Given the description of an element on the screen output the (x, y) to click on. 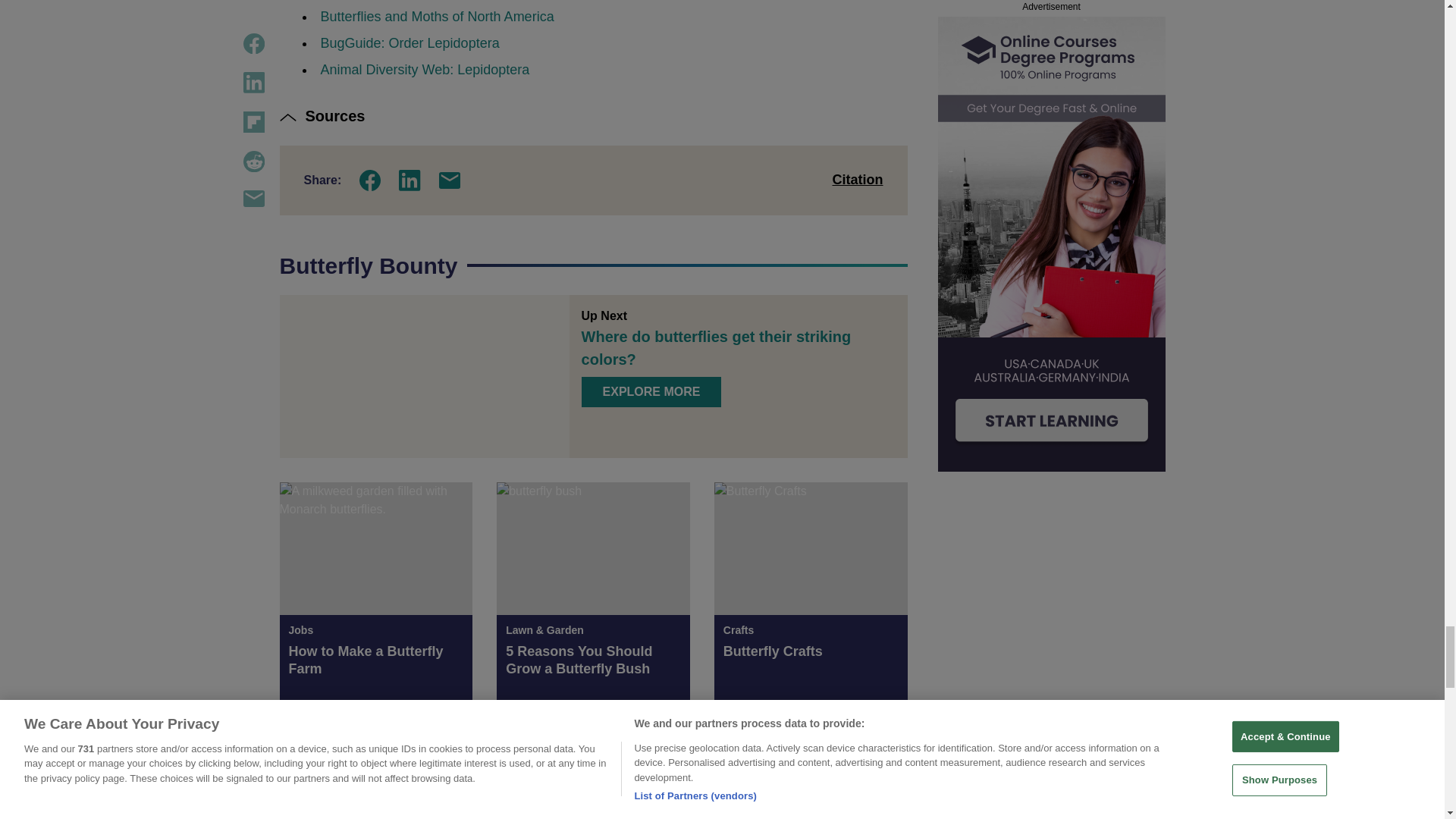
Share Content on Facebook (369, 179)
Share Content on LinkedIn (409, 179)
Share Content via Email (449, 180)
